Given the description of an element on the screen output the (x, y) to click on. 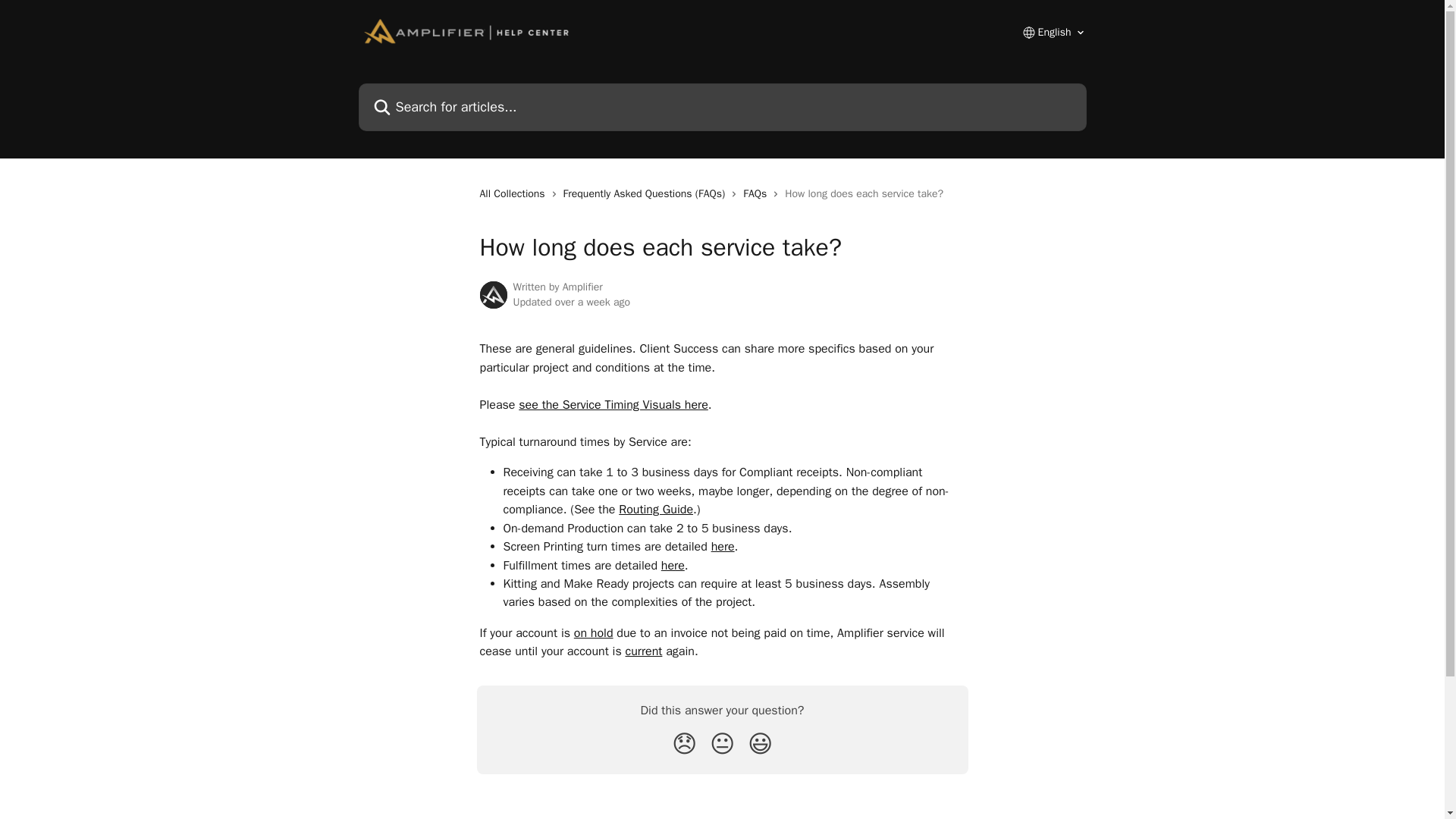
here (723, 546)
Routing Guide (655, 509)
FAQs (757, 193)
All Collections (514, 193)
on hold (592, 632)
here (672, 565)
current (644, 651)
see the Service Timing Visuals here (612, 404)
